Given the description of an element on the screen output the (x, y) to click on. 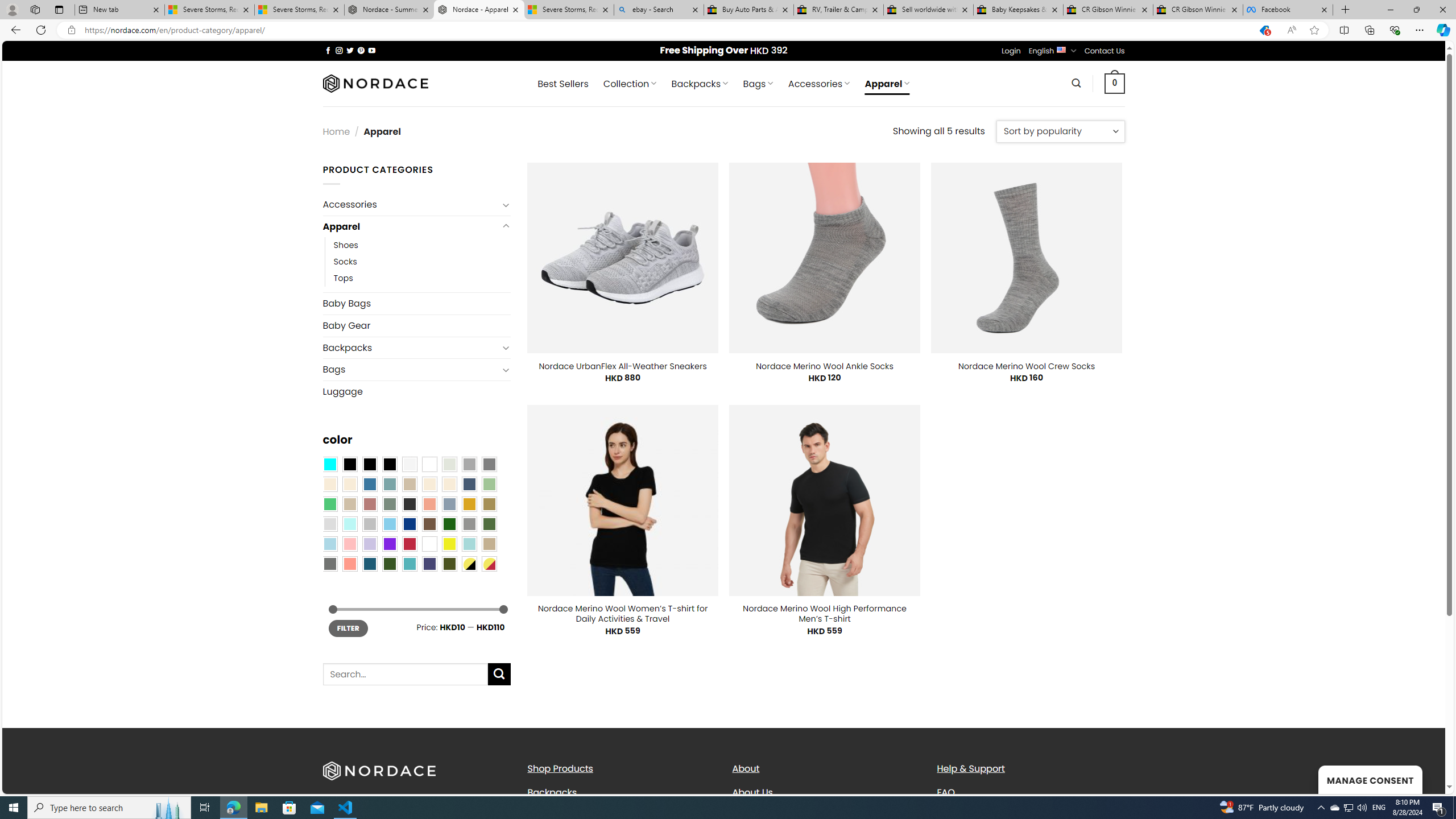
Follow on Instagram (338, 49)
FAQ (945, 792)
Blue (369, 483)
Black-Brown (389, 464)
FILTER (347, 628)
Dark Gray (468, 464)
Light Gray (329, 523)
English (1061, 49)
